Given the description of an element on the screen output the (x, y) to click on. 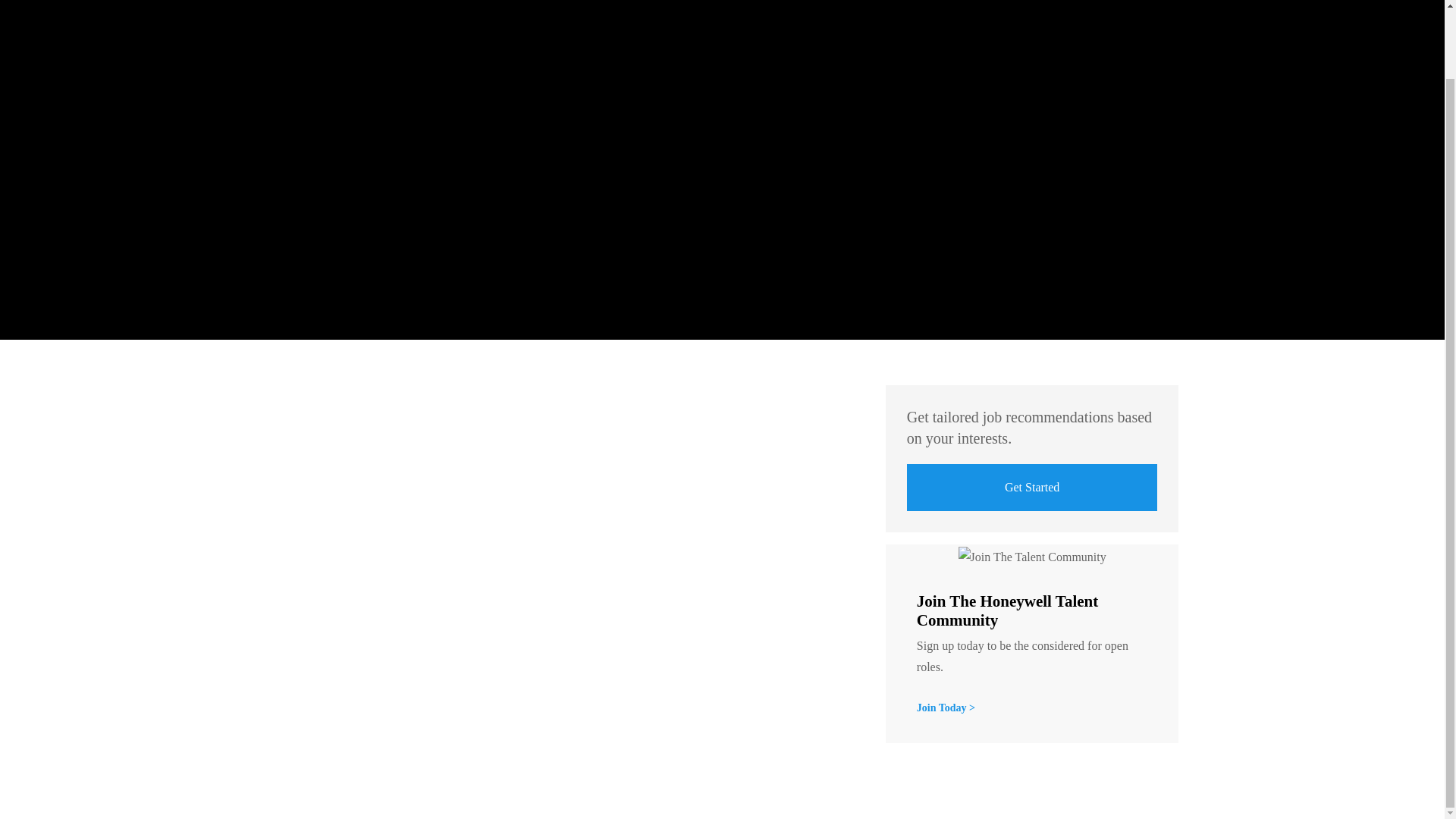
Join the Talent Community (946, 708)
Get Started (1032, 487)
